Given the description of an element on the screen output the (x, y) to click on. 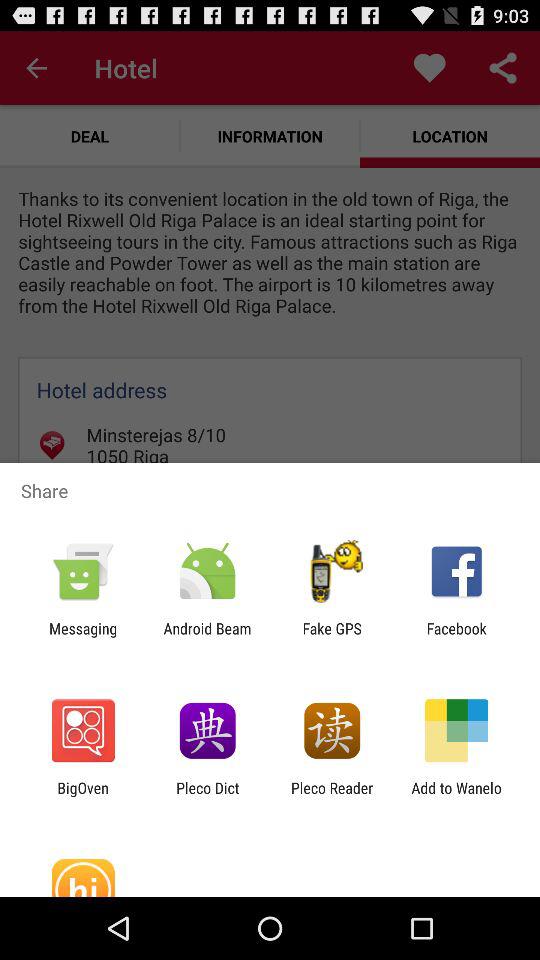
jump to facebook item (456, 637)
